Given the description of an element on the screen output the (x, y) to click on. 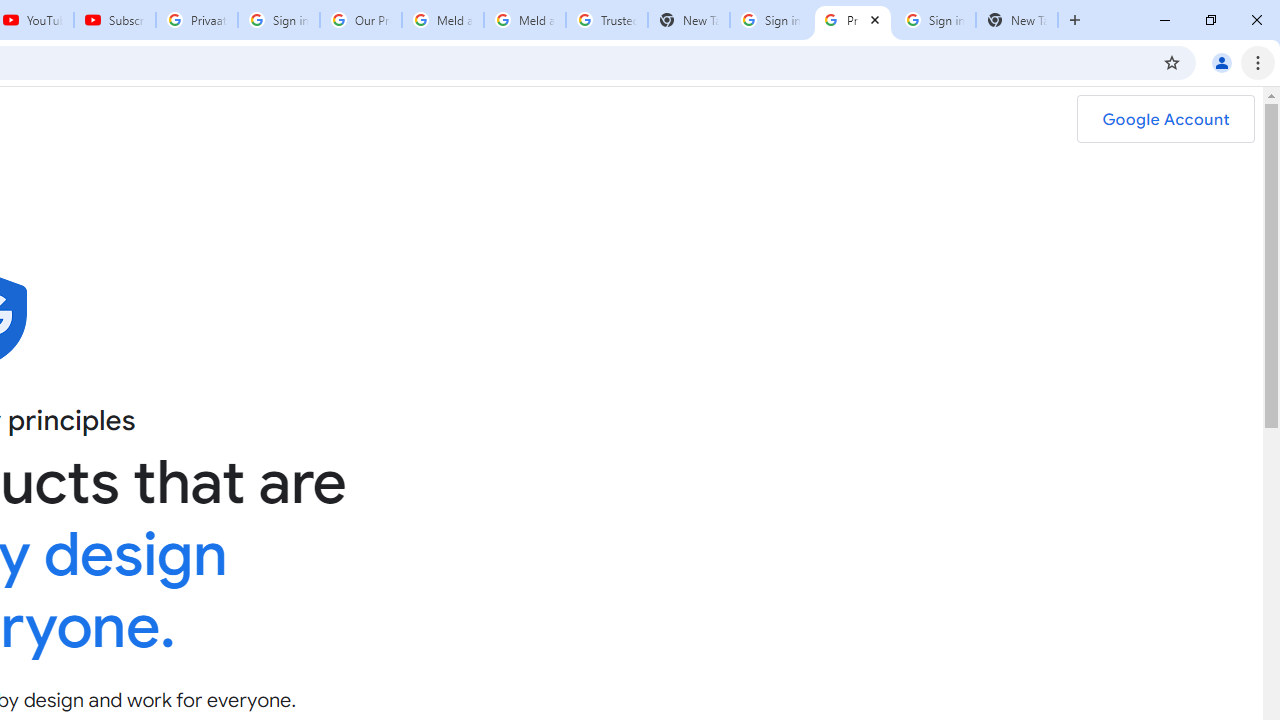
Google Account (1165, 119)
